Given the description of an element on the screen output the (x, y) to click on. 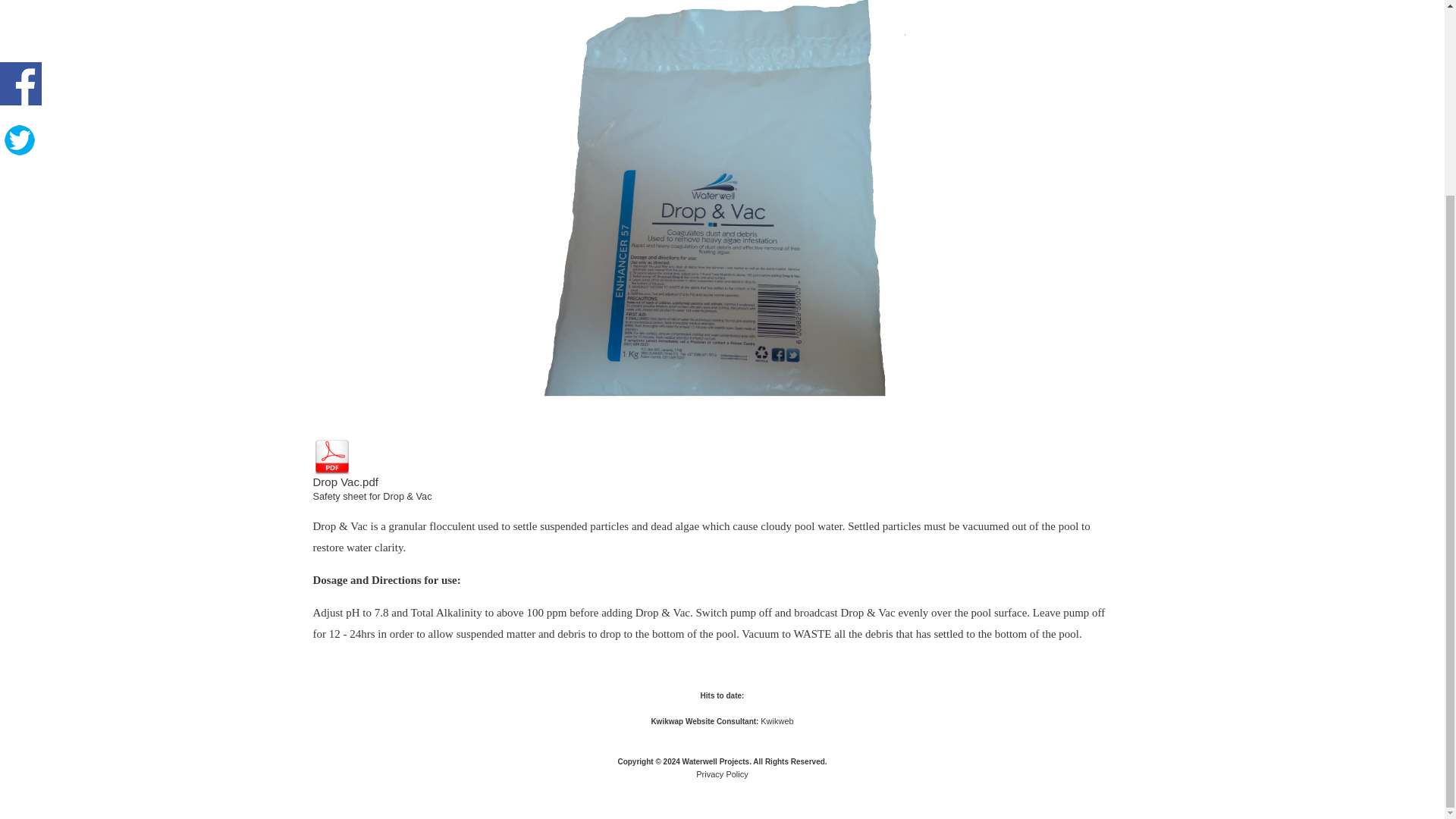
Privacy Policy (721, 773)
Kwikweb (776, 720)
Drop Vac.pdf (345, 468)
